Given the description of an element on the screen output the (x, y) to click on. 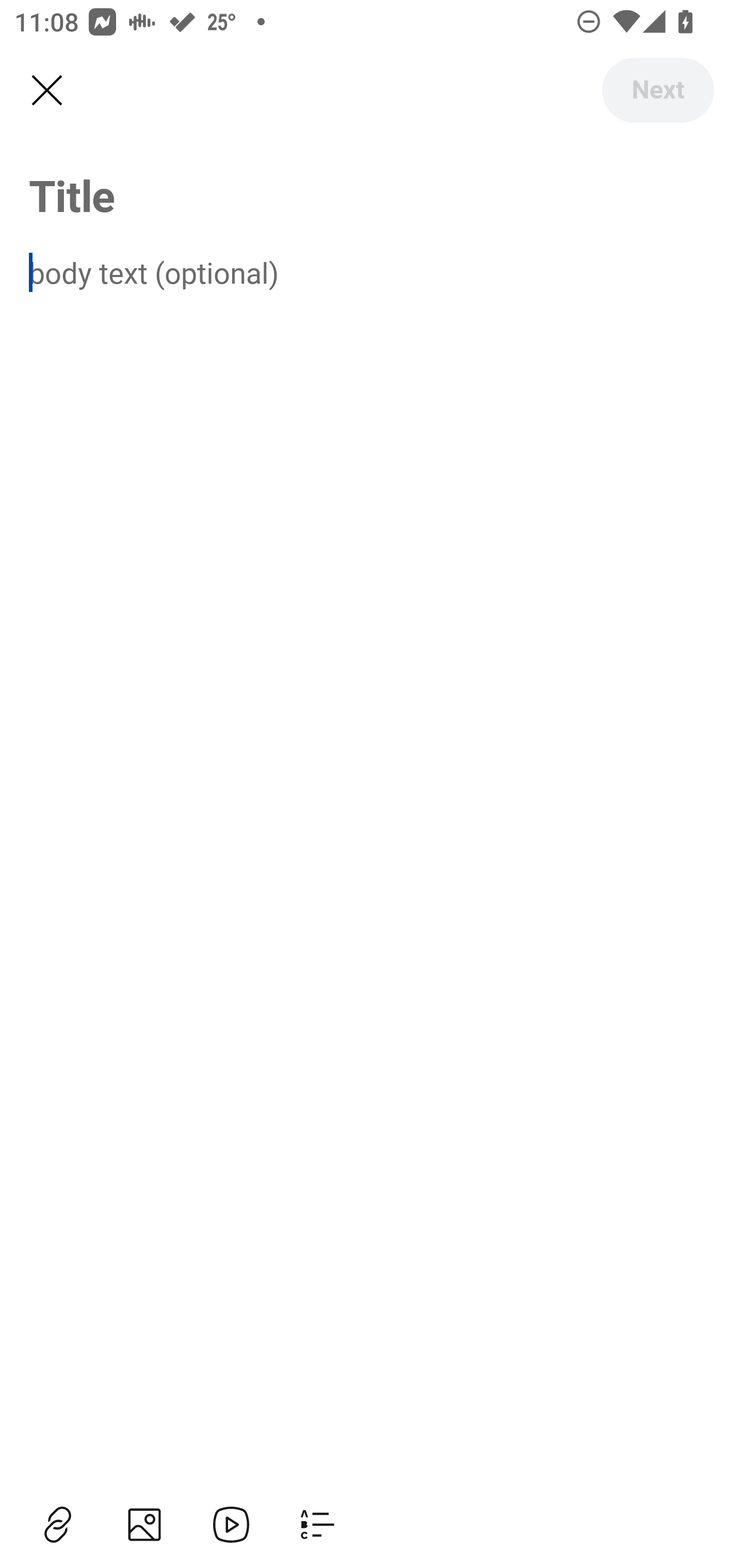
Close (46, 90)
Next (657, 90)
Post title (371, 195)
body text (optional) (371, 271)
